Given the description of an element on the screen output the (x, y) to click on. 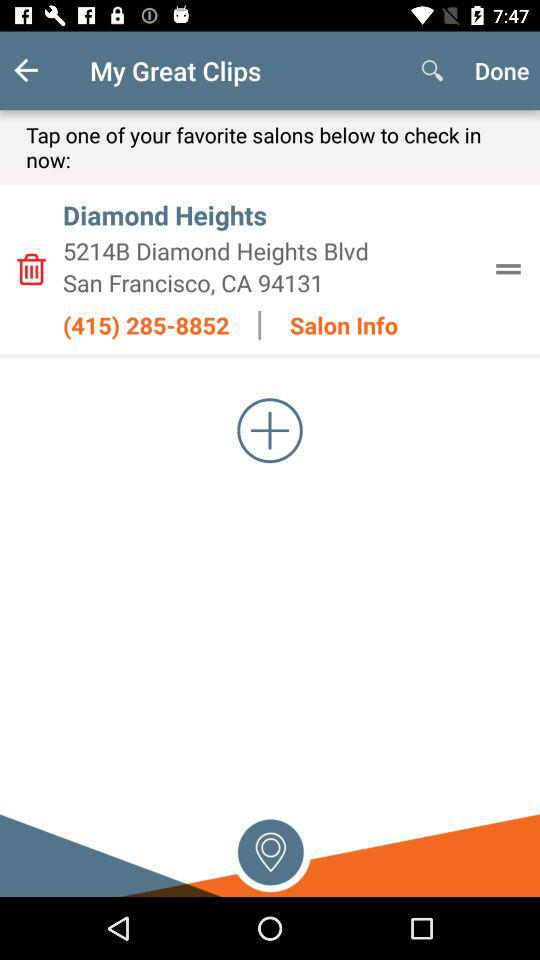
choose the item above (415) 285-8852 item (269, 282)
